Given the description of an element on the screen output the (x, y) to click on. 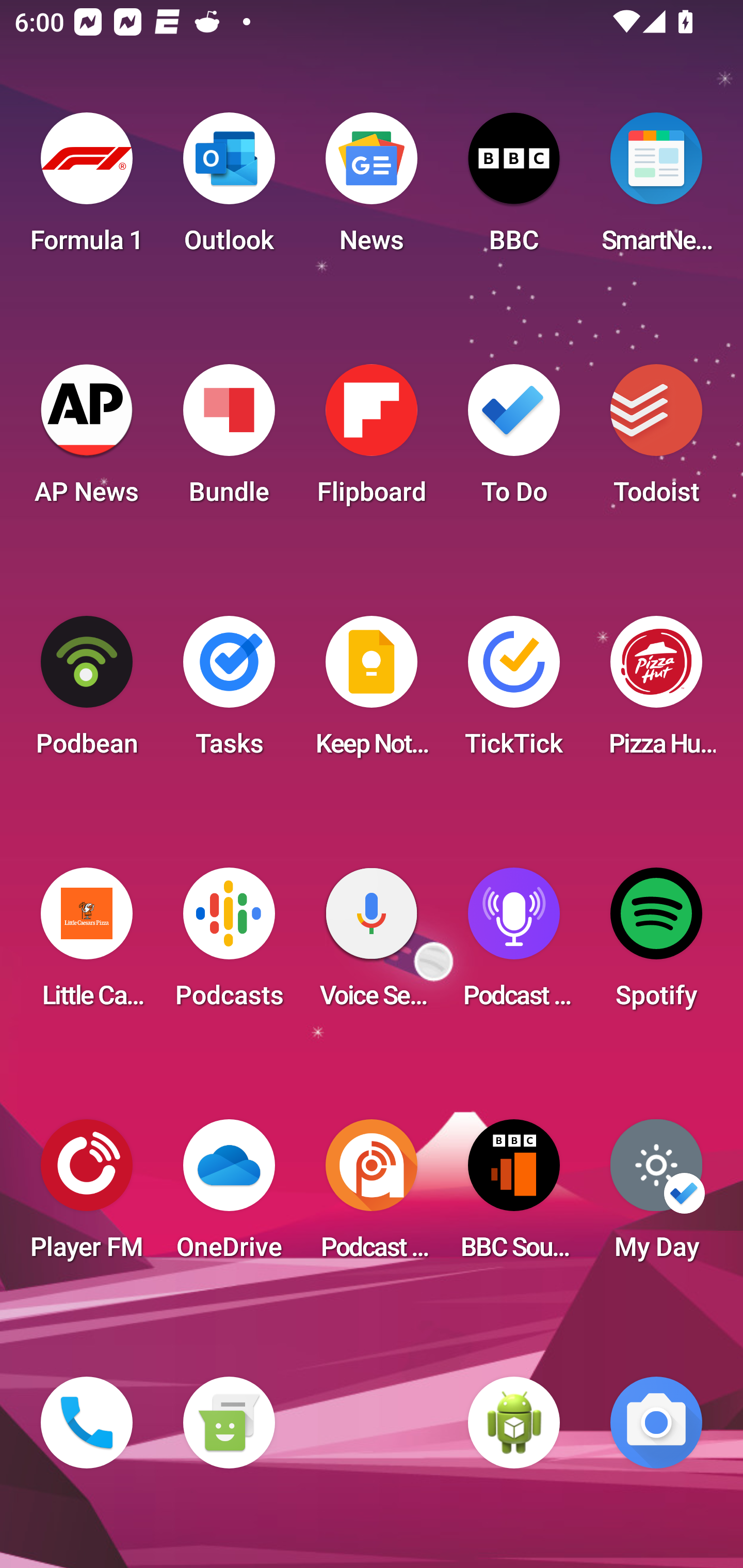
Formula 1 (86, 188)
Outlook (228, 188)
News (371, 188)
BBC (513, 188)
SmartNews (656, 188)
AP News (86, 440)
Bundle (228, 440)
Flipboard (371, 440)
To Do (513, 440)
Todoist (656, 440)
Podbean (86, 692)
Tasks (228, 692)
Keep Notes (371, 692)
TickTick (513, 692)
Pizza Hut HK & Macau (656, 692)
Little Caesars Pizza (86, 943)
Podcasts (228, 943)
Voice Search (371, 943)
Podcast Player (513, 943)
Spotify (656, 943)
Player FM (86, 1195)
OneDrive (228, 1195)
Podcast Addict (371, 1195)
BBC Sounds (513, 1195)
My Day (656, 1195)
Phone (86, 1422)
Messaging (228, 1422)
WebView Browser Tester (513, 1422)
Camera (656, 1422)
